Given the description of an element on the screen output the (x, y) to click on. 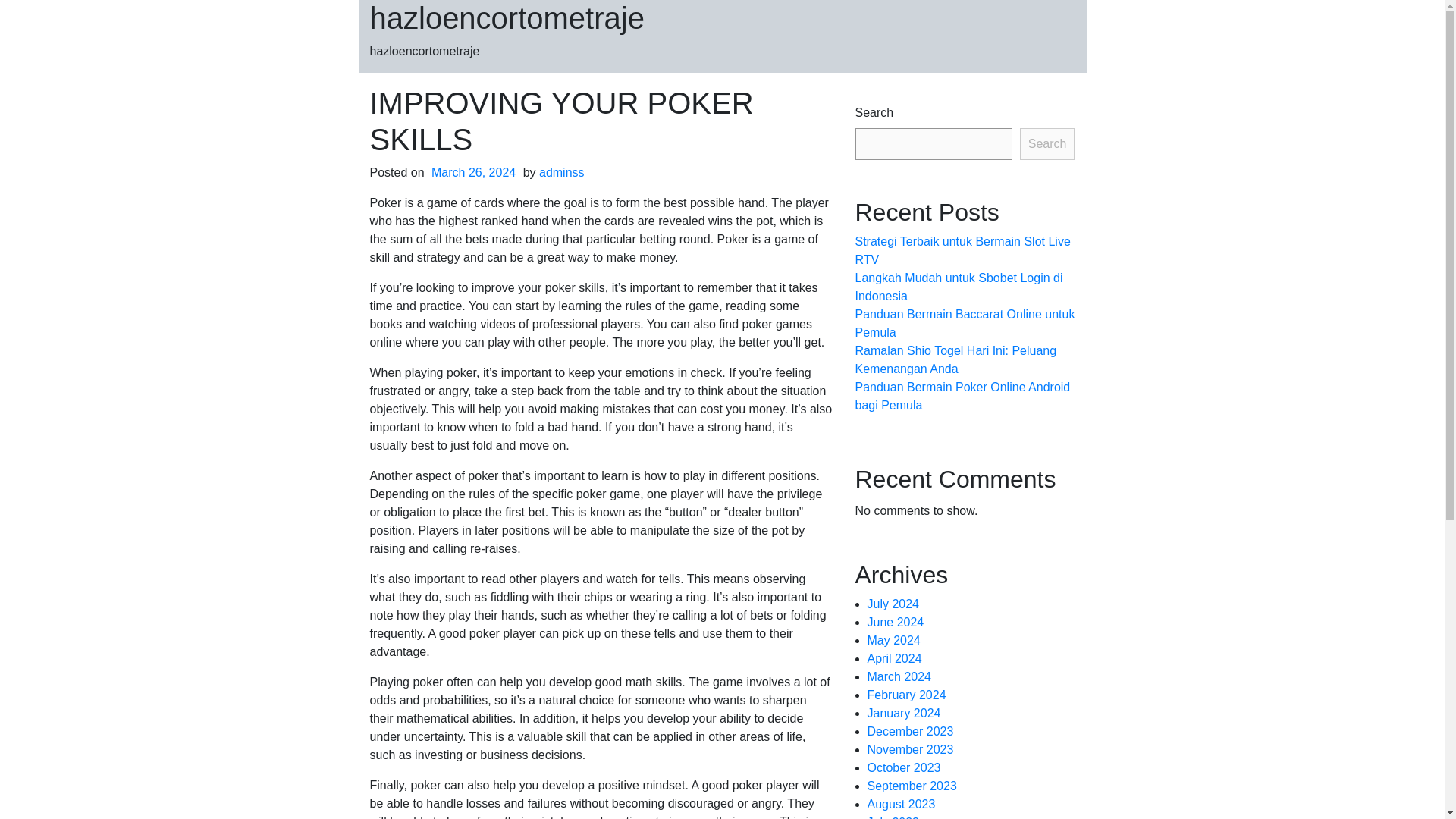
Panduan Bermain Poker Online Android bagi Pemula (963, 395)
July 2024 (893, 603)
Search (1047, 143)
hazloencortometraje (507, 18)
January 2024 (903, 712)
Strategi Terbaik untuk Bermain Slot Live RTV (963, 250)
December 2023 (910, 730)
September 2023 (911, 785)
adminss (561, 172)
June 2024 (895, 621)
Ramalan Shio Togel Hari Ini: Peluang Kemenangan Anda (956, 359)
March 26, 2024 (473, 172)
July 2023 (893, 817)
November 2023 (910, 748)
April 2024 (894, 658)
